Given the description of an element on the screen output the (x, y) to click on. 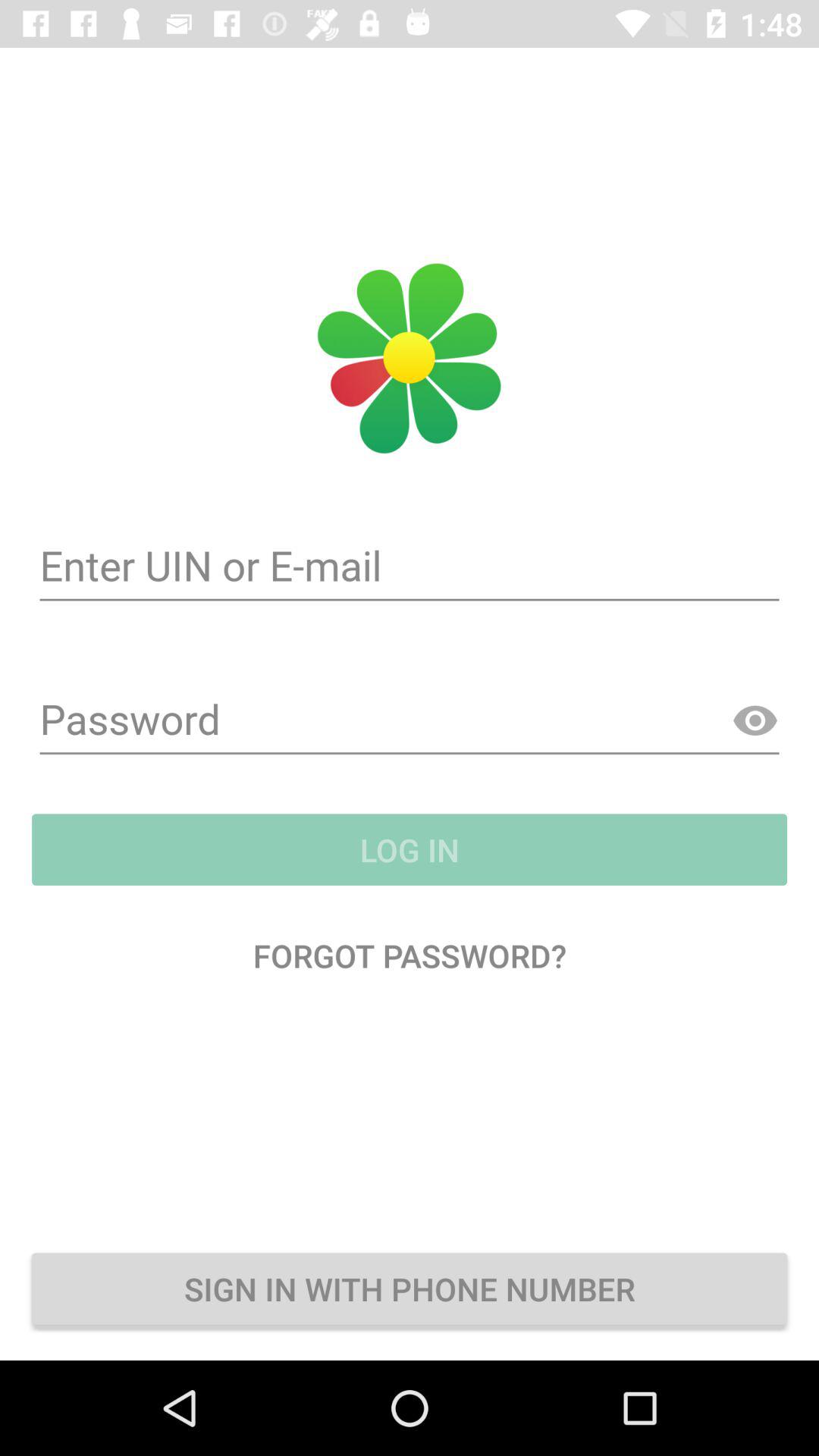
swipe to the sign in with icon (409, 1288)
